Given the description of an element on the screen output the (x, y) to click on. 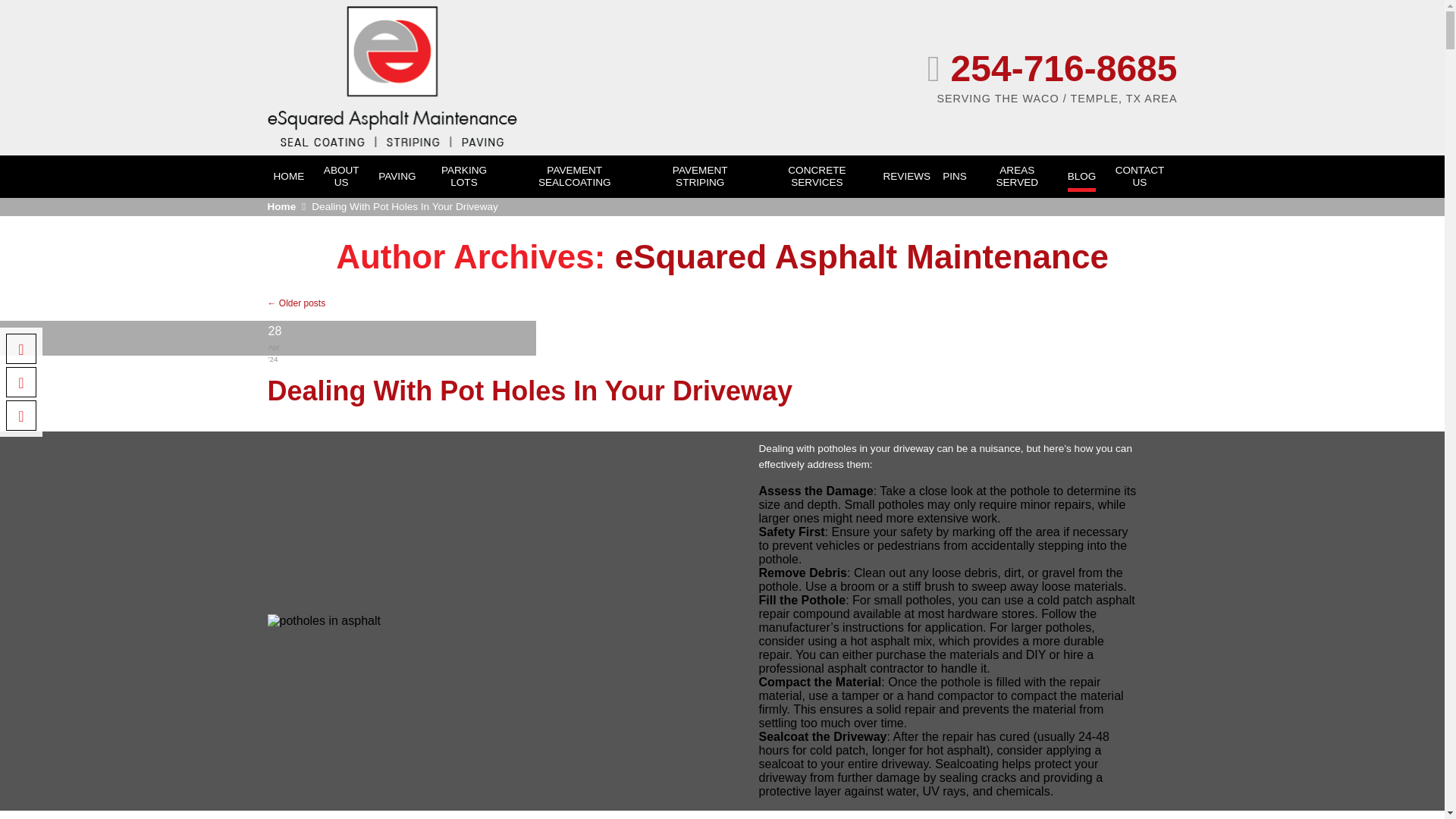
PARKING LOTS (464, 176)
Go to Home (288, 207)
REVIEWS (906, 176)
CONCRETE SERVICES (816, 176)
eSquared Asphalt Maintenance (861, 256)
HOME (288, 176)
PAVEMENT SEALCOATING (574, 176)
254-716-8685 (855, 68)
AREAS SERVED (1016, 176)
ABOUT US (340, 176)
